Given the description of an element on the screen output the (x, y) to click on. 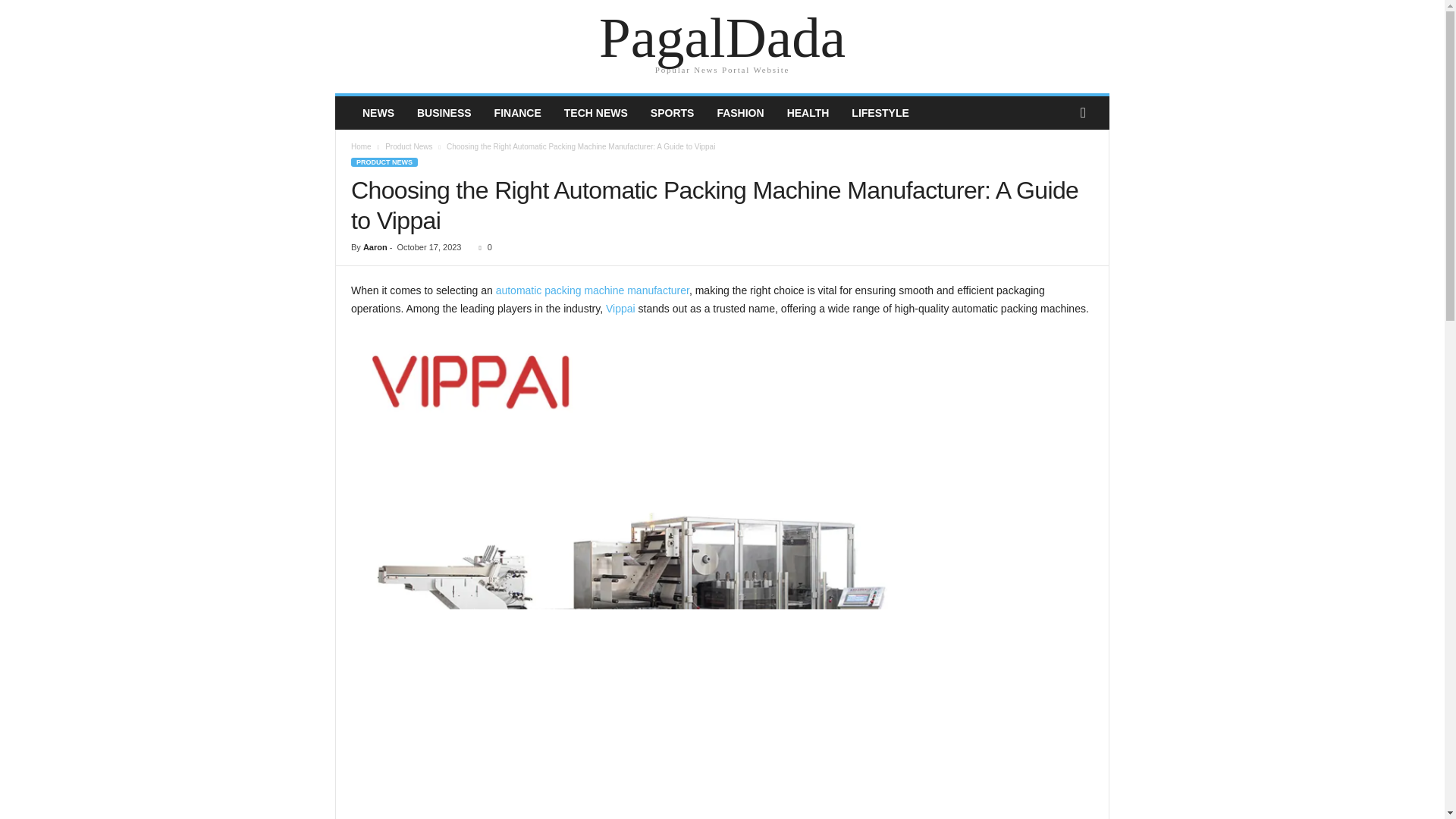
SPORTS (672, 112)
BUSINESS (444, 112)
PagalDada (721, 38)
PRODUCT NEWS (383, 162)
NEWS (378, 112)
Vippai (619, 308)
View all posts in Product News (408, 146)
Home (360, 146)
FINANCE (518, 112)
HEALTH (808, 112)
TECH NEWS (596, 112)
FASHION (739, 112)
Product News (408, 146)
automatic packing machine manufacturer (592, 290)
Aaron (374, 246)
